Given the description of an element on the screen output the (x, y) to click on. 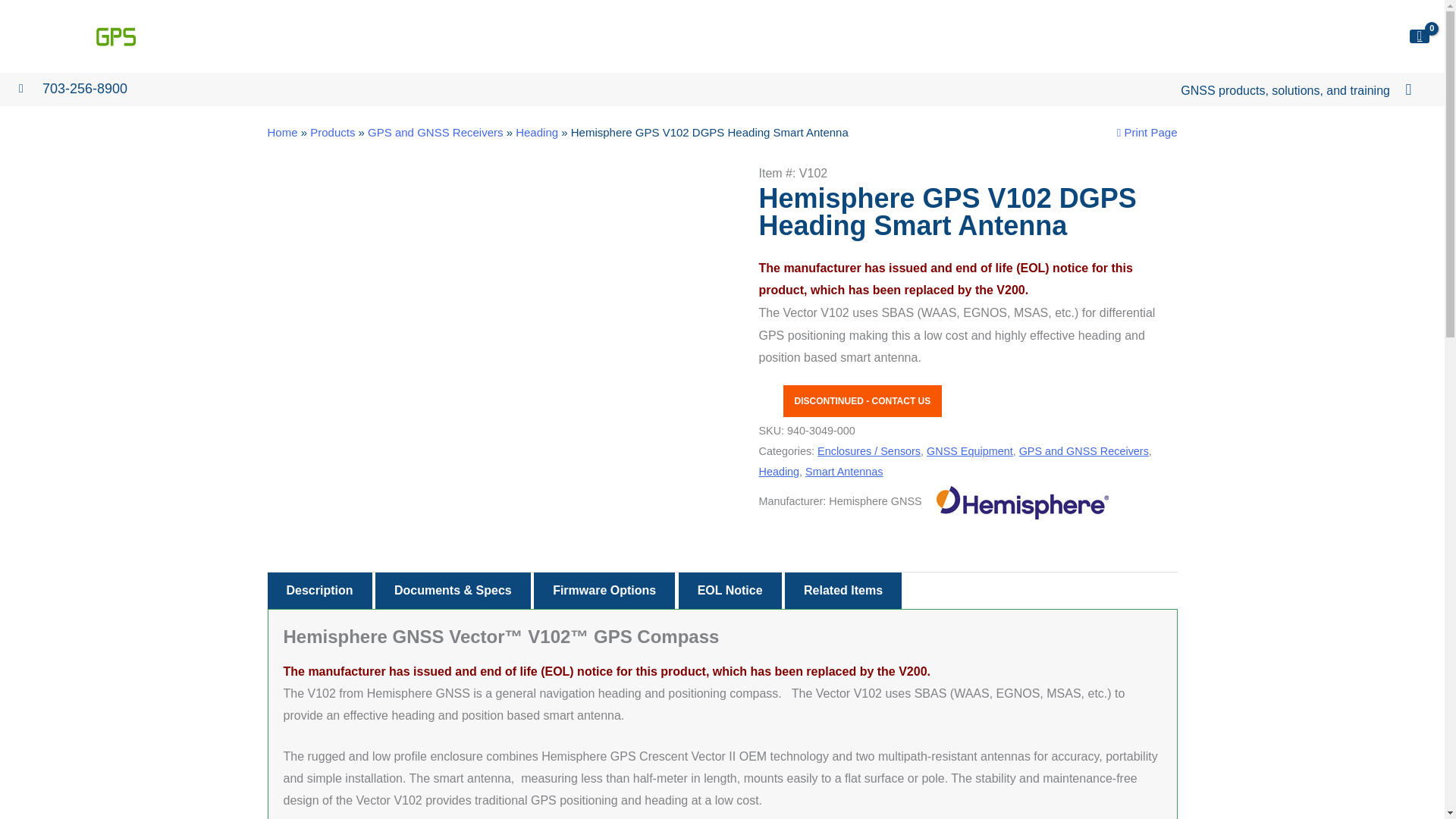
print test (1146, 132)
PRODUCTS (797, 36)
MANUFACTURERS (902, 36)
